Given the description of an element on the screen output the (x, y) to click on. 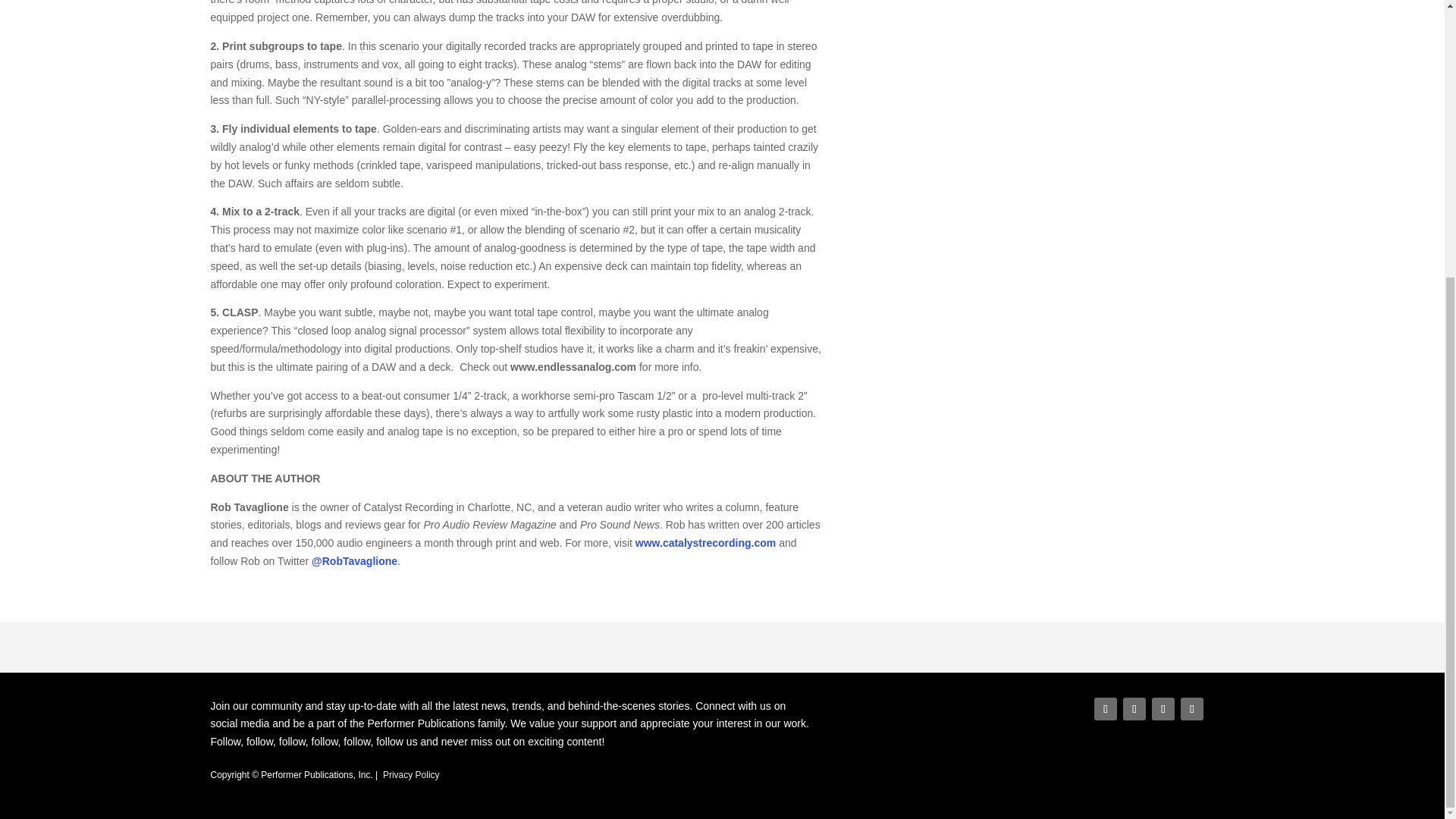
Follow on Facebook (1105, 708)
Follow on Youtube (1192, 708)
Follow on Instagram (1162, 708)
Follow on X (1133, 708)
